Given the description of an element on the screen output the (x, y) to click on. 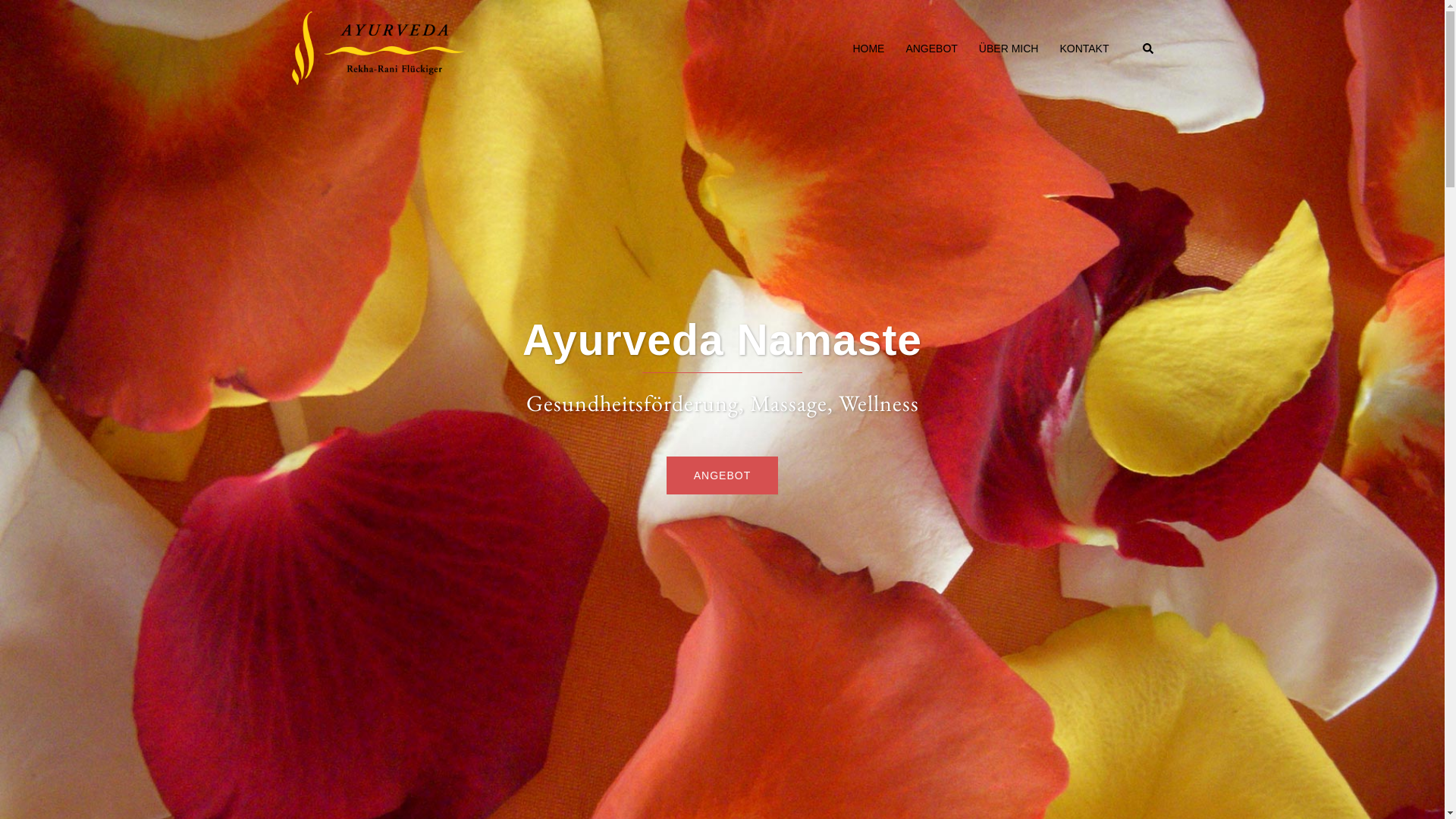
KONTAKT Element type: text (1083, 49)
ANGEBOT Element type: text (931, 49)
Ayurveda Namaste Element type: hover (377, 47)
ANGEBOT Element type: text (722, 475)
HOME Element type: text (868, 49)
